Given the description of an element on the screen output the (x, y) to click on. 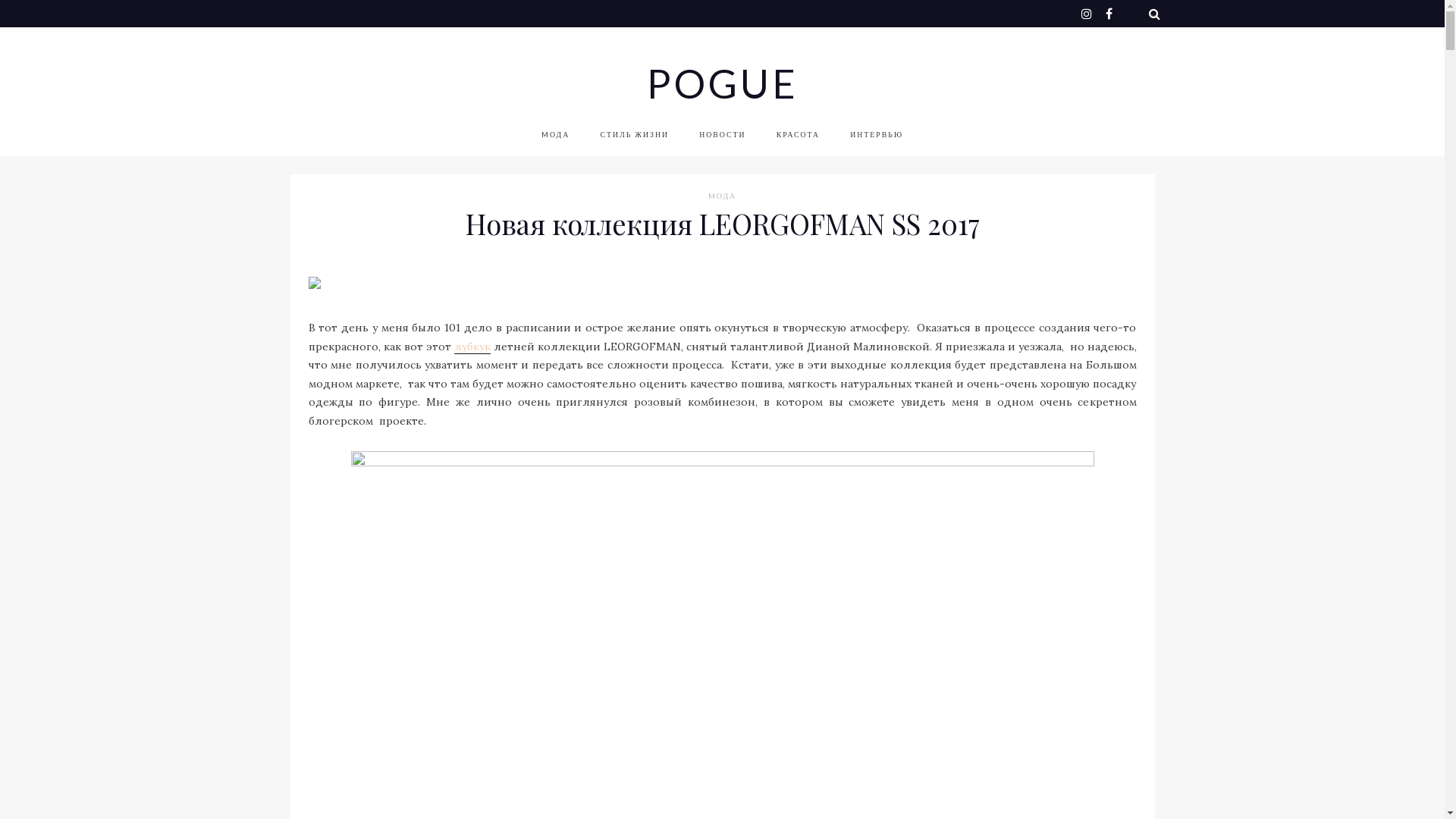
POGUE Element type: text (721, 83)
